Given the description of an element on the screen output the (x, y) to click on. 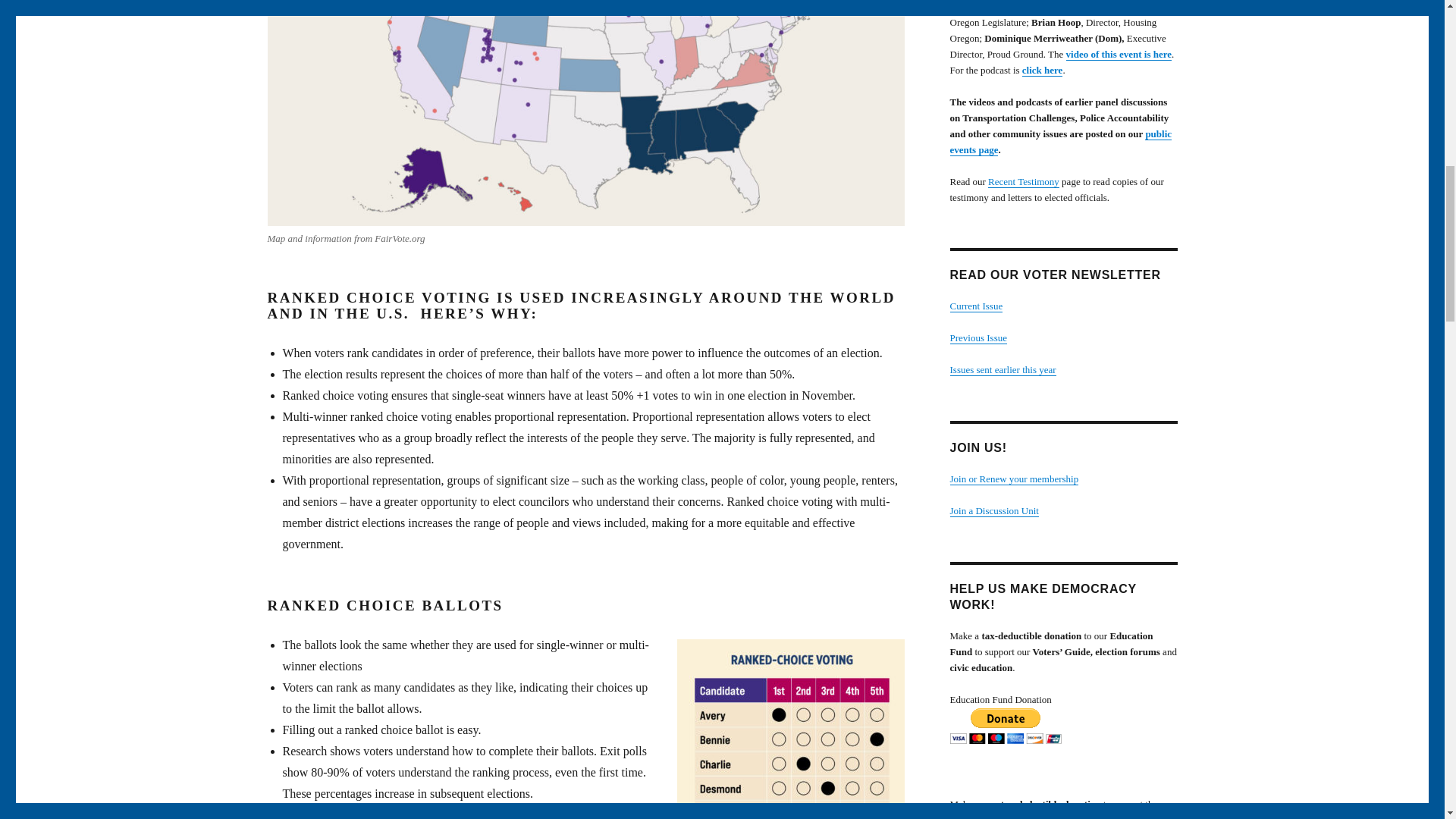
PayPal - The safer, easier way to pay online! (1005, 725)
